Given the description of an element on the screen output the (x, y) to click on. 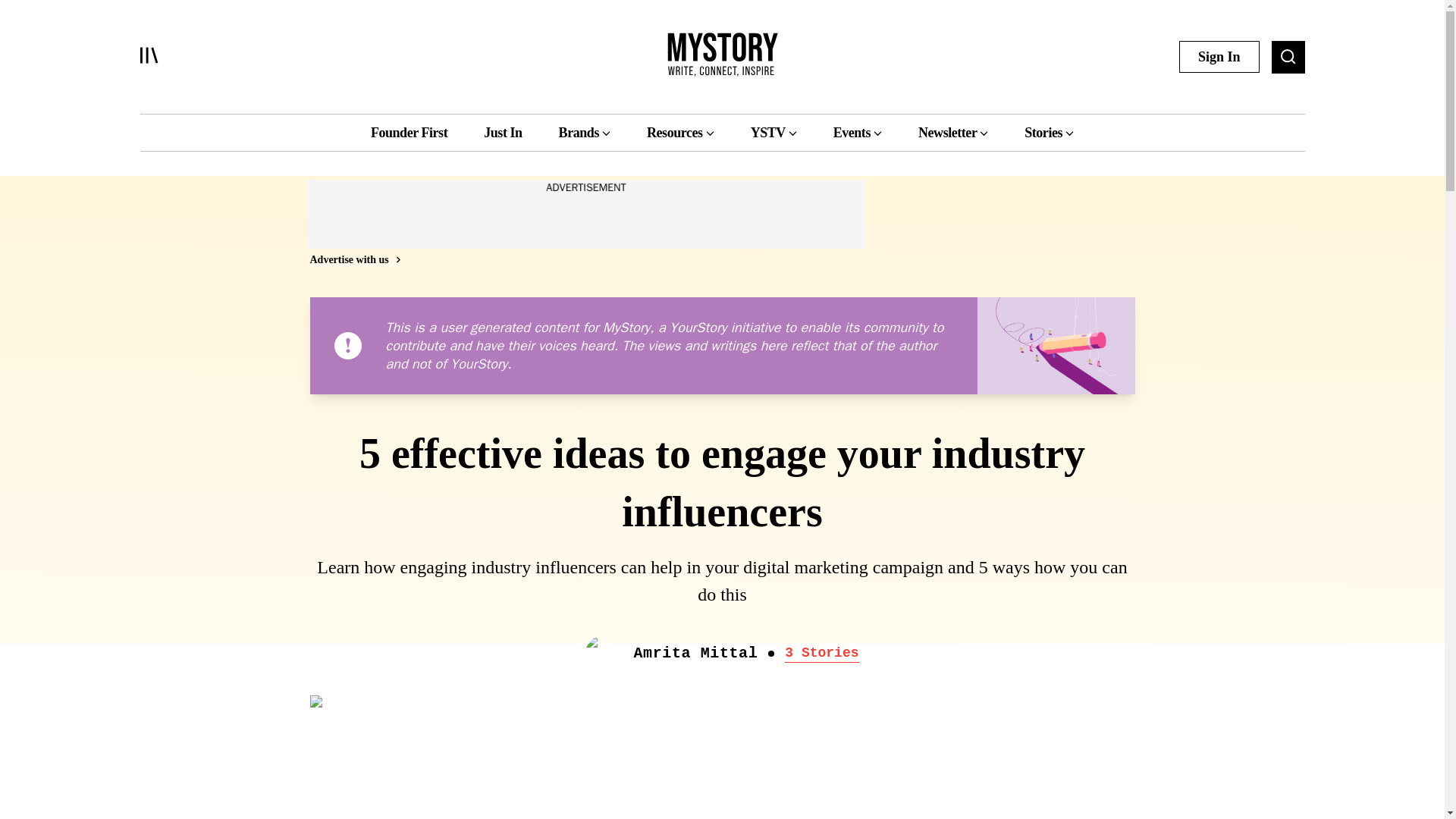
Amrita Mittal (695, 653)
3 Stories (821, 653)
Founder First (408, 132)
Advertise with us (353, 259)
Just In (502, 132)
